Given the description of an element on the screen output the (x, y) to click on. 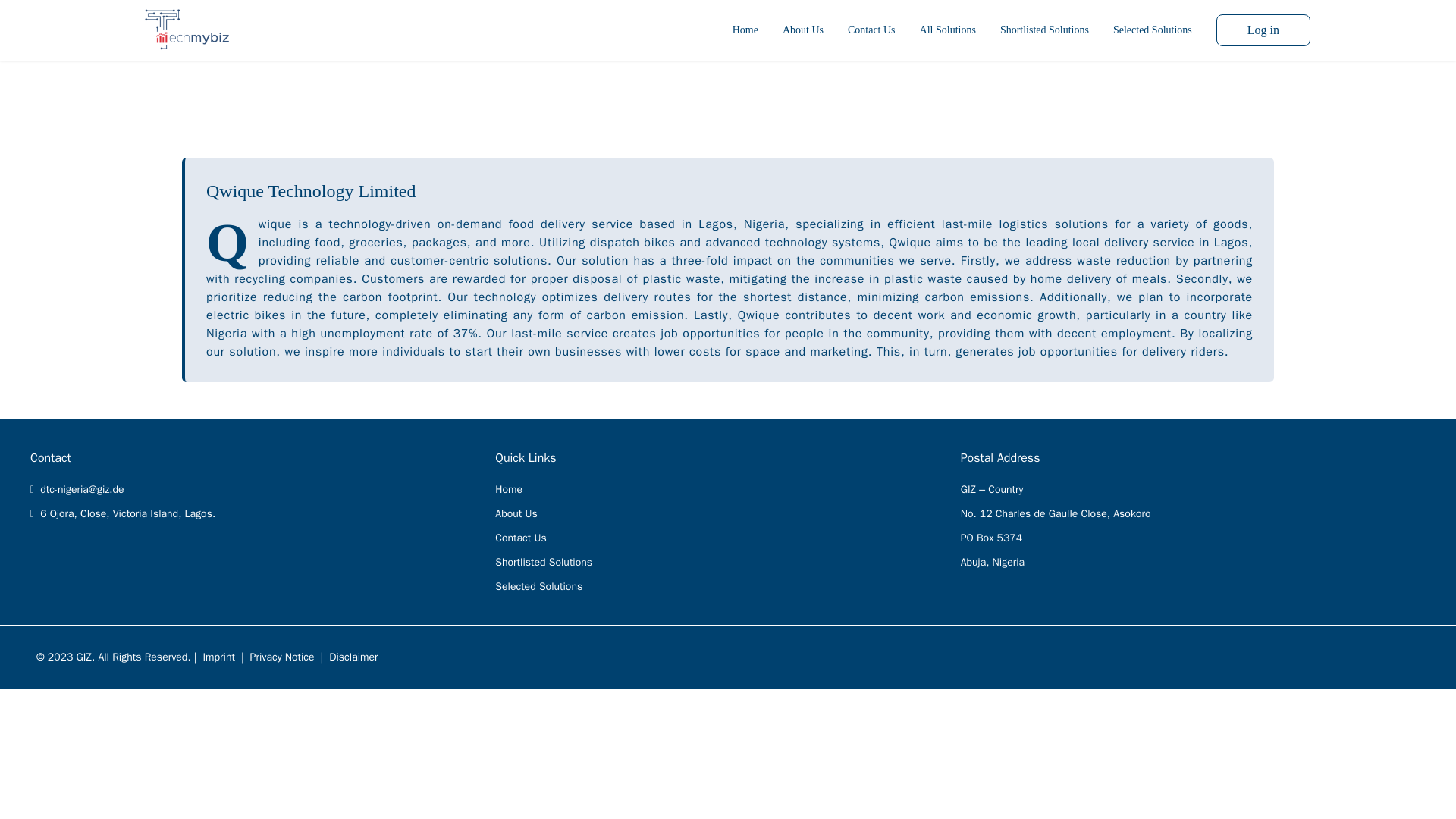
About Us (516, 513)
Contact Us (520, 537)
Home (745, 29)
Privacy Notice (282, 657)
Shortlisted Solutions (543, 562)
Home (508, 489)
About Us (803, 29)
Selected Solutions (538, 585)
All Solutions (947, 29)
Contact Us (871, 29)
Selected Solutions (1152, 29)
Log in (1262, 29)
Imprint (218, 657)
Disclaimer (353, 657)
Shortlisted Solutions (1044, 29)
